Given the description of an element on the screen output the (x, y) to click on. 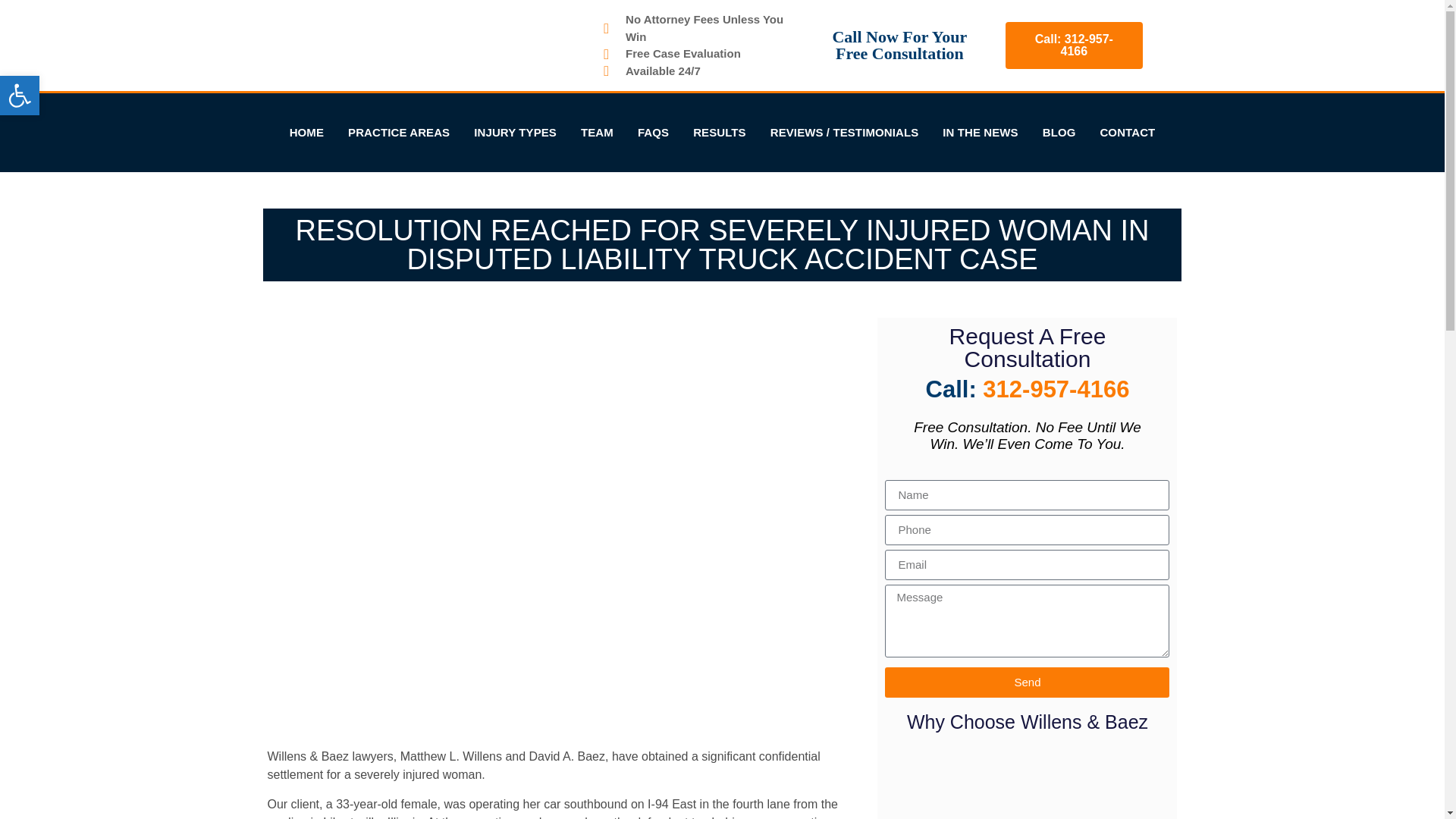
PRACTICE AREAS (398, 132)
HOME (307, 132)
Accessibility Tools (19, 95)
INJURY TYPES (515, 132)
Call: 312-957-4166 (1074, 45)
Accessibility Tools (19, 95)
